Given the description of an element on the screen output the (x, y) to click on. 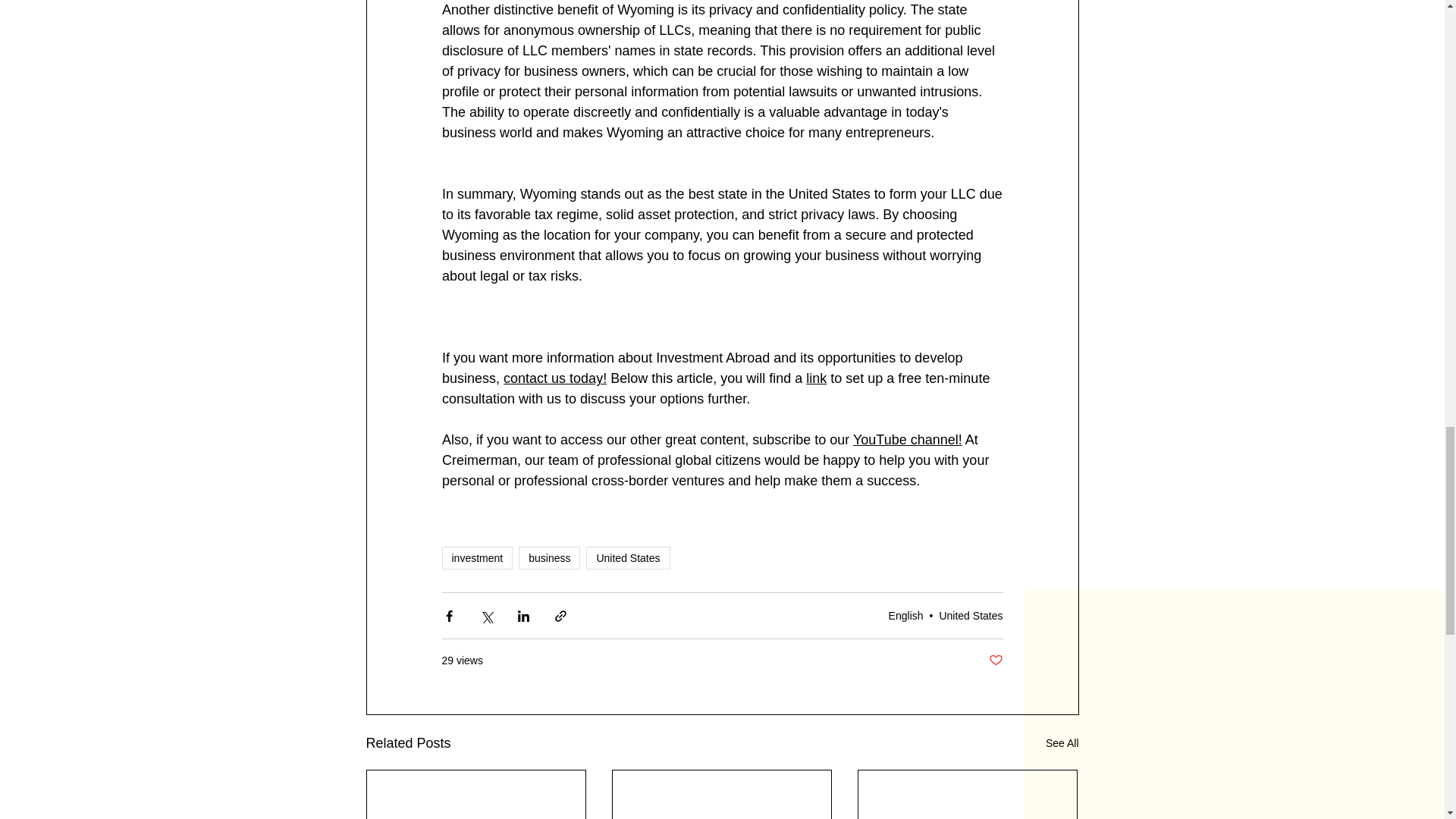
business (548, 558)
See All (1061, 743)
investment (476, 558)
link (816, 378)
YouTube channel! (905, 439)
English (905, 615)
Post not marked as liked (995, 660)
United States (627, 558)
contact us today! (555, 378)
United States (971, 615)
